Given the description of an element on the screen output the (x, y) to click on. 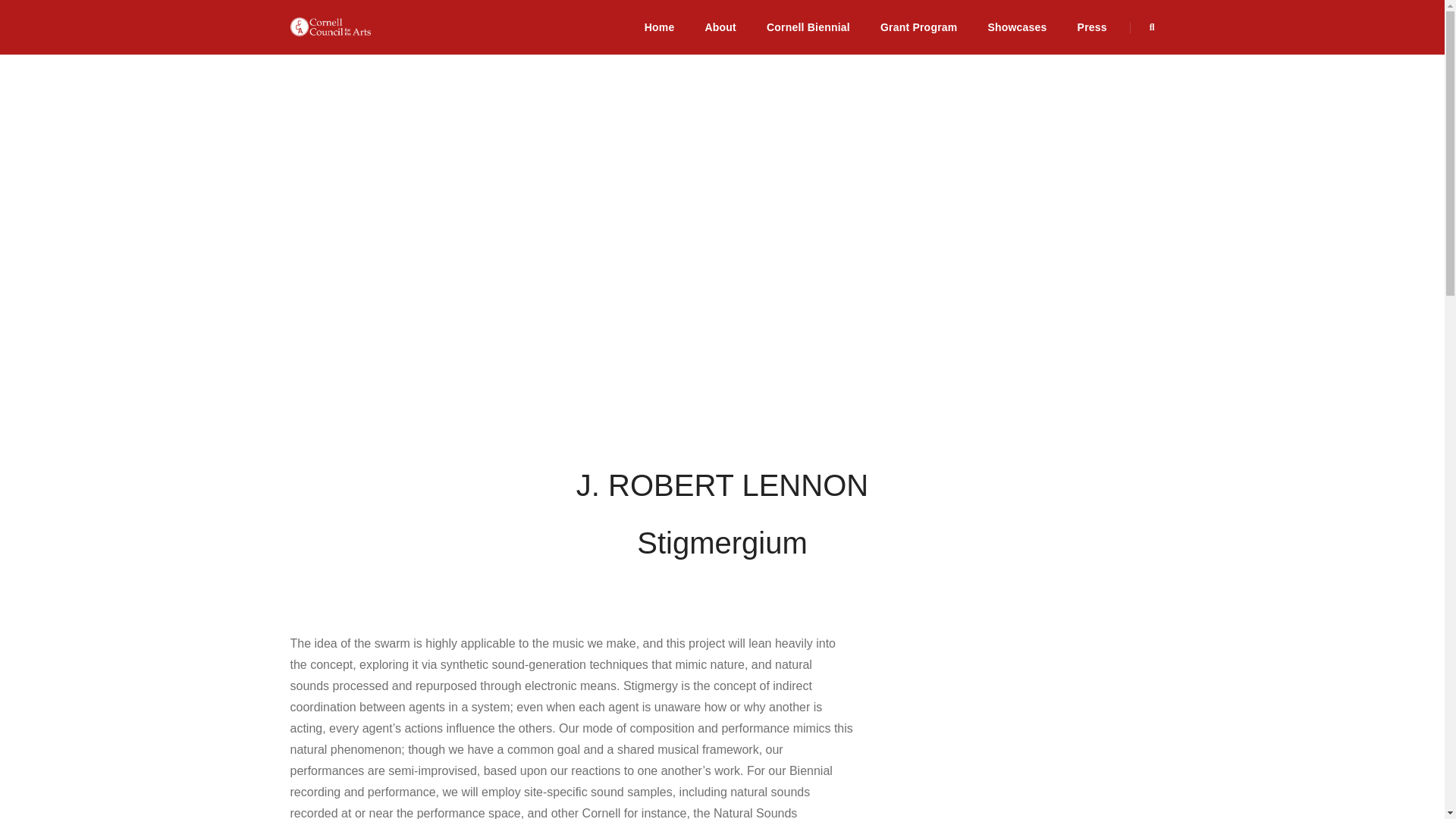
Cornell Biennial (808, 27)
Grant Program (919, 27)
Showcases (1016, 27)
Cornell Council for the Arts (330, 26)
